Given the description of an element on the screen output the (x, y) to click on. 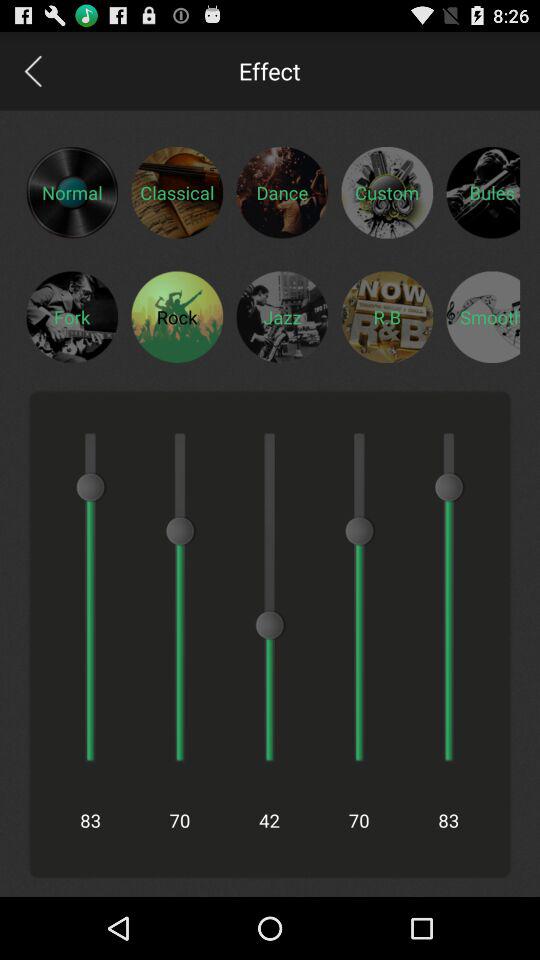
dance effect selection (282, 191)
